Given the description of an element on the screen output the (x, y) to click on. 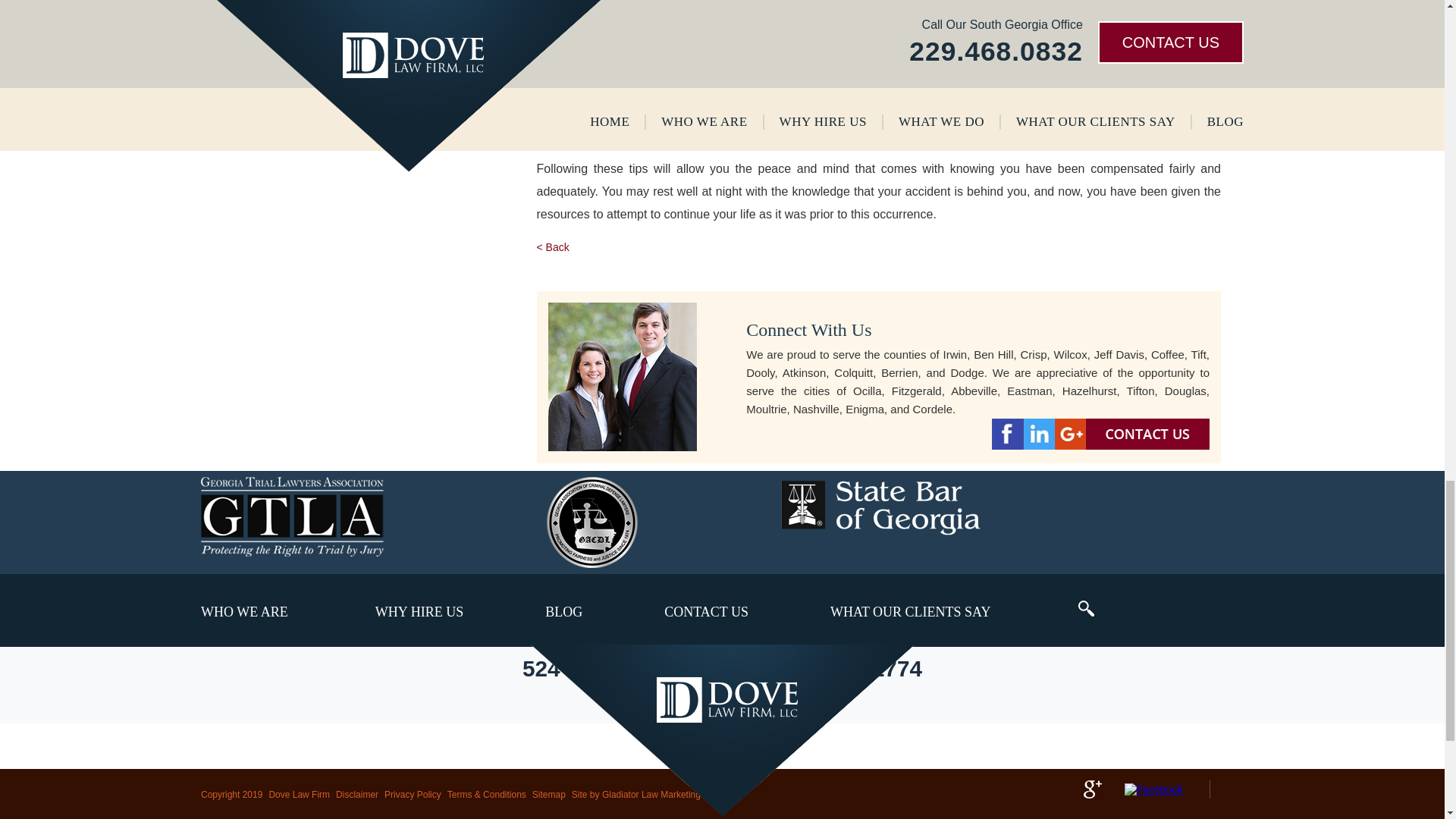
click to send (356, 16)
click to send (356, 16)
Ocilla, Georgia Lawyers (721, 730)
